Given the description of an element on the screen output the (x, y) to click on. 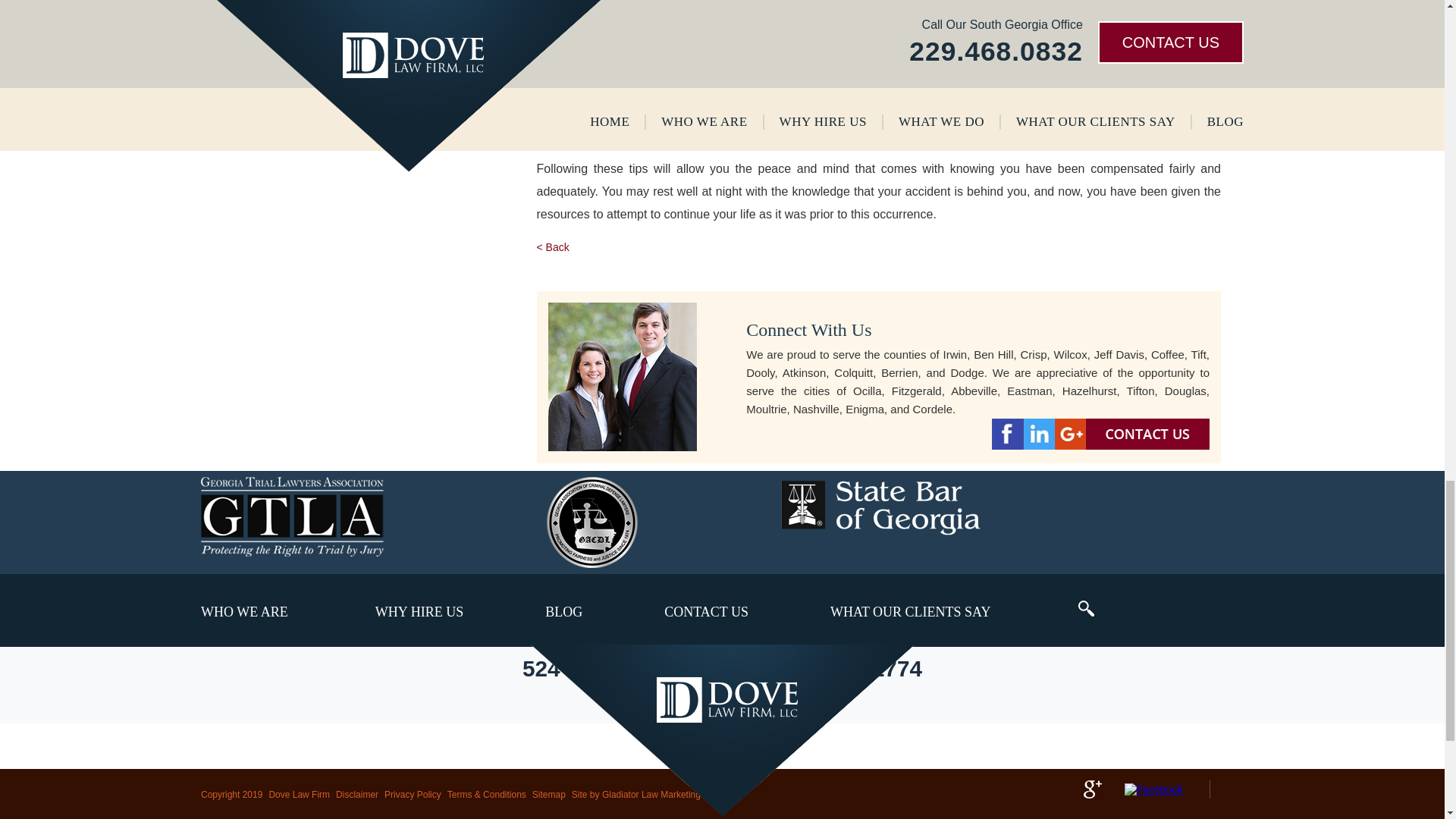
click to send (356, 16)
click to send (356, 16)
Ocilla, Georgia Lawyers (721, 730)
